Given the description of an element on the screen output the (x, y) to click on. 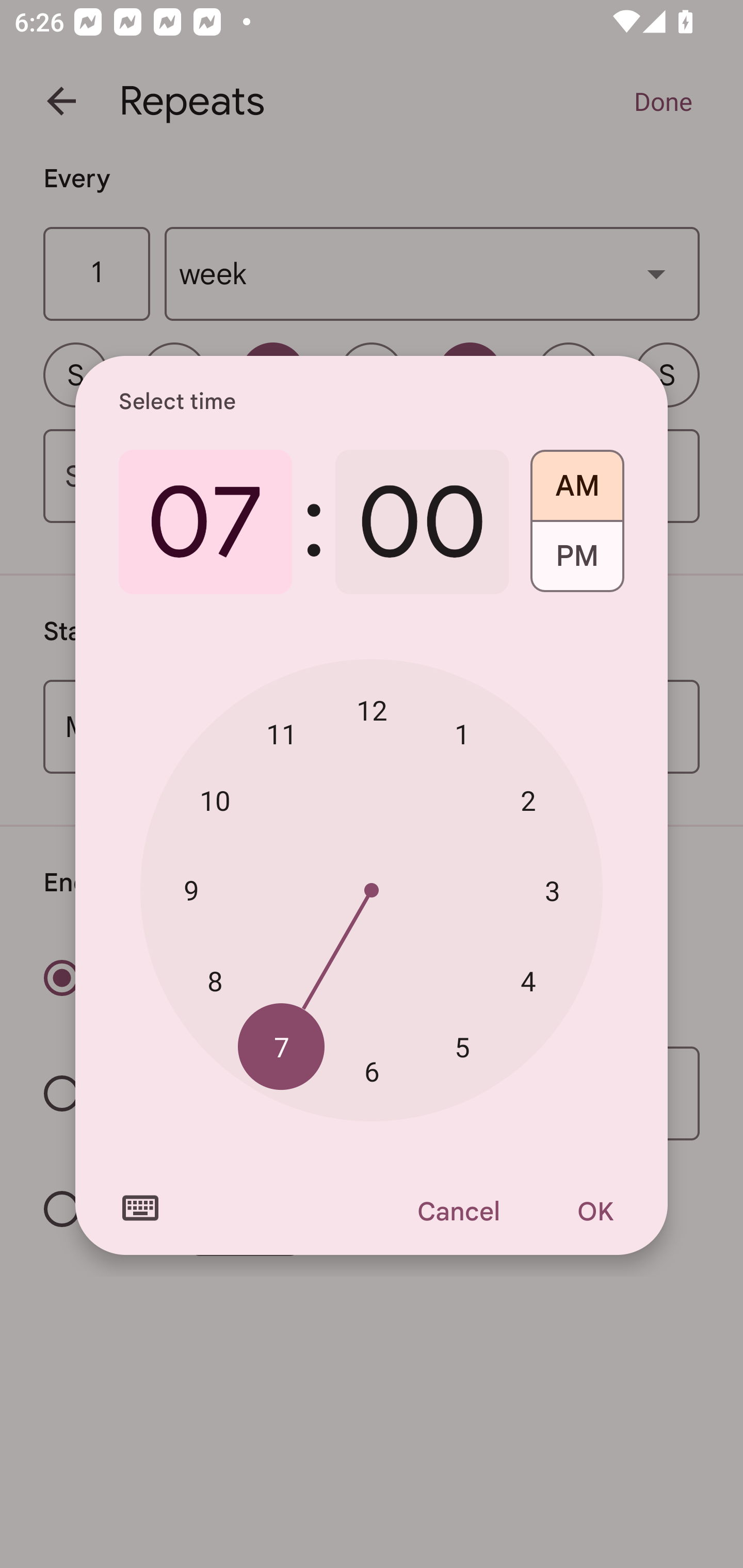
AM (577, 478)
07 7 o'clock (204, 522)
00 0 minutes (421, 522)
PM (577, 563)
12 12 o'clock (371, 710)
11 11 o'clock (281, 733)
1 1 o'clock (462, 733)
10 10 o'clock (214, 800)
2 2 o'clock (528, 800)
9 9 o'clock (190, 889)
3 3 o'clock (551, 890)
8 8 o'clock (214, 980)
4 4 o'clock (528, 980)
7 7 o'clock (281, 1046)
5 5 o'clock (462, 1046)
6 6 o'clock (371, 1071)
Switch to text input mode for the time input. (140, 1208)
Cancel (458, 1211)
OK (595, 1211)
